Given the description of an element on the screen output the (x, y) to click on. 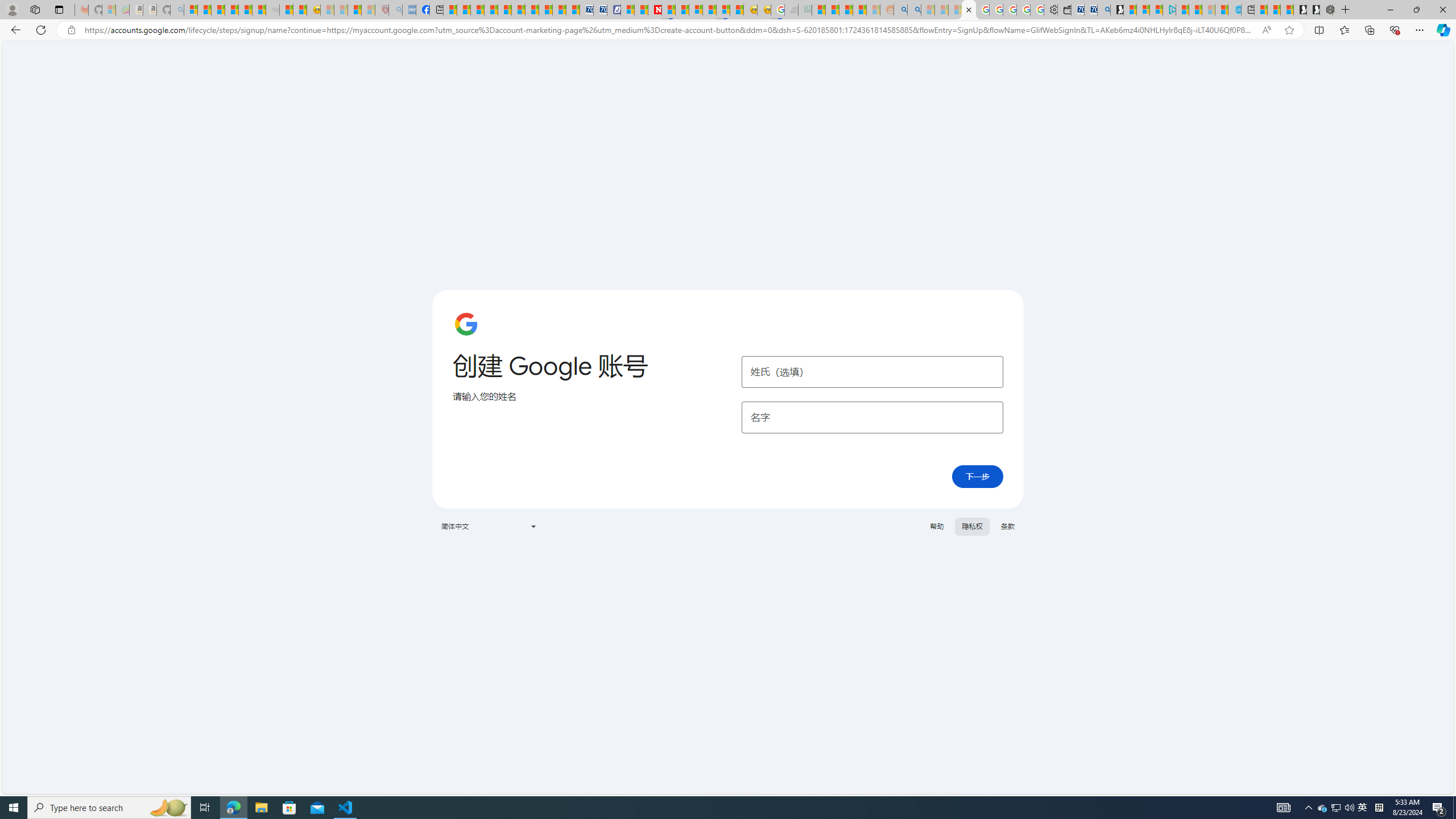
Trusted Community Engagement and Contributions | Guidelines (667, 9)
Student Loan Update: Forgiveness Program Ends This Month (858, 9)
Bing Real Estate - Home sales and rental listings (1103, 9)
Cheap Hotels - Save70.com (599, 9)
